Given the description of an element on the screen output the (x, y) to click on. 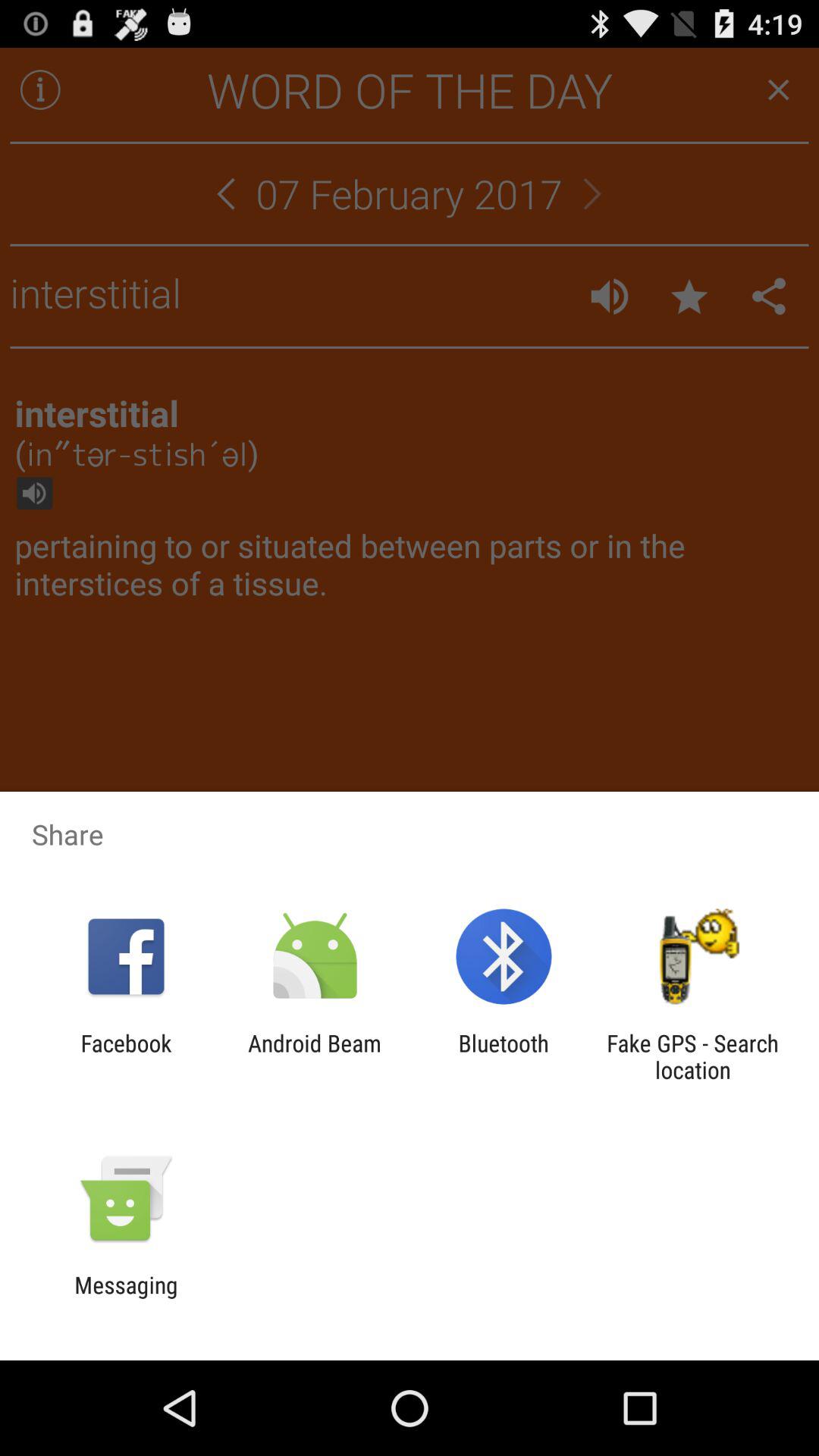
open the item next to android beam item (125, 1056)
